Given the description of an element on the screen output the (x, y) to click on. 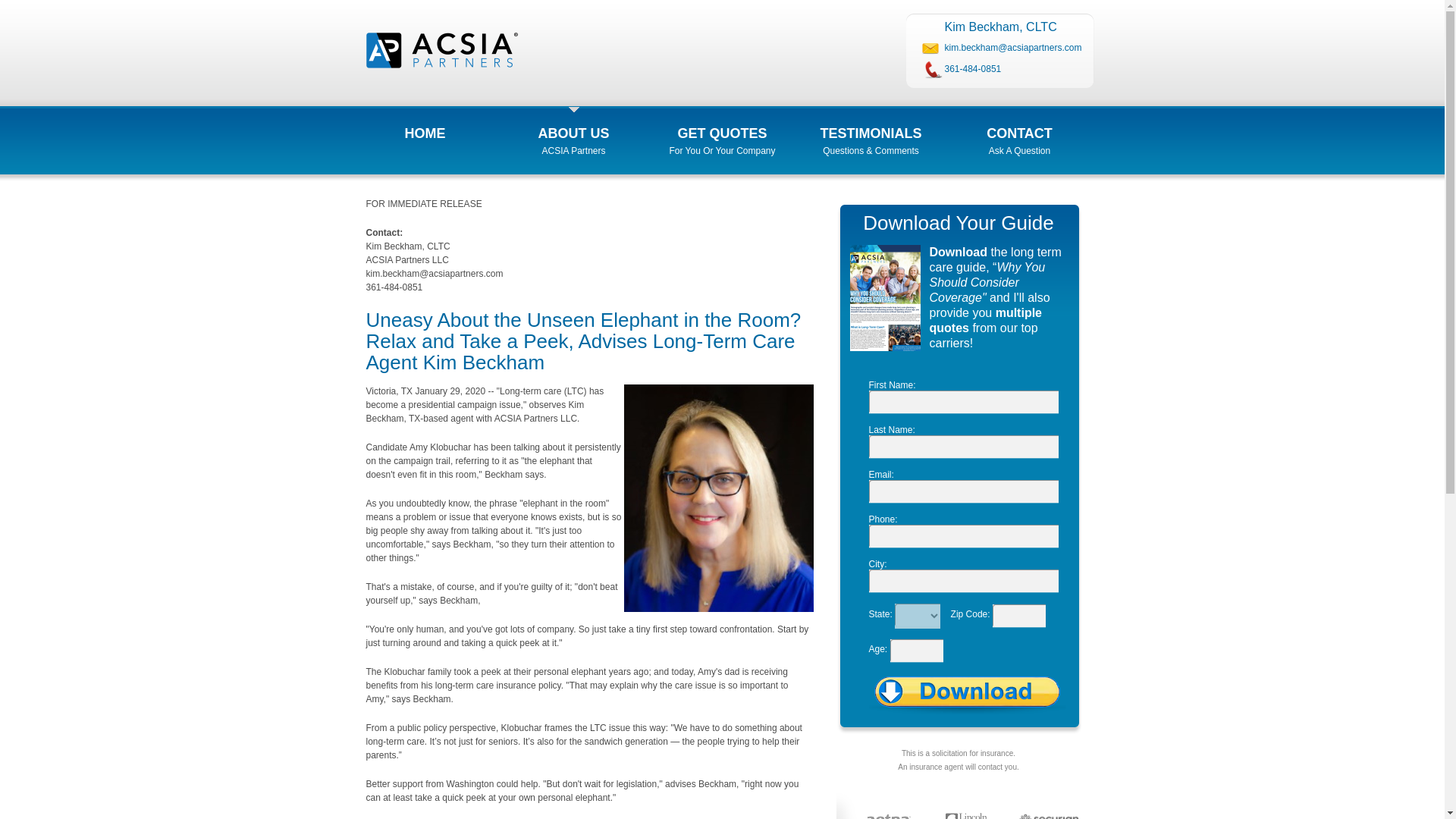
GET QUOTES (721, 126)
361-484-0851 (972, 68)
ABOUT US (573, 126)
TESTIMONIALS (870, 126)
CONTACT (1018, 126)
HOME (424, 126)
